Given the description of an element on the screen output the (x, y) to click on. 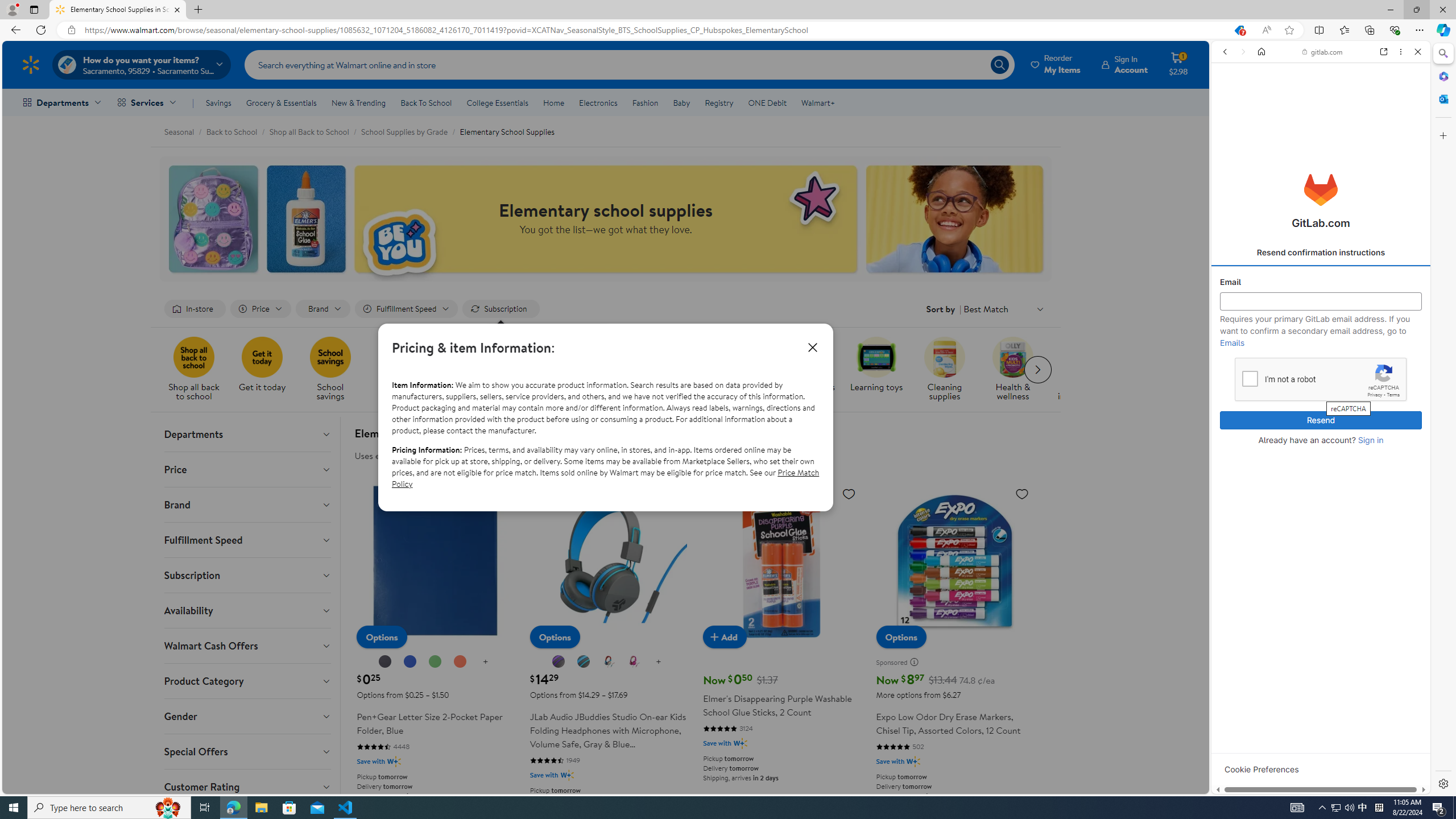
About GitLab (1320, 337)
Preferences (1403, 129)
Login (1320, 281)
Dashboard (1320, 364)
Confirmation Page (1320, 392)
